Given the description of an element on the screen output the (x, y) to click on. 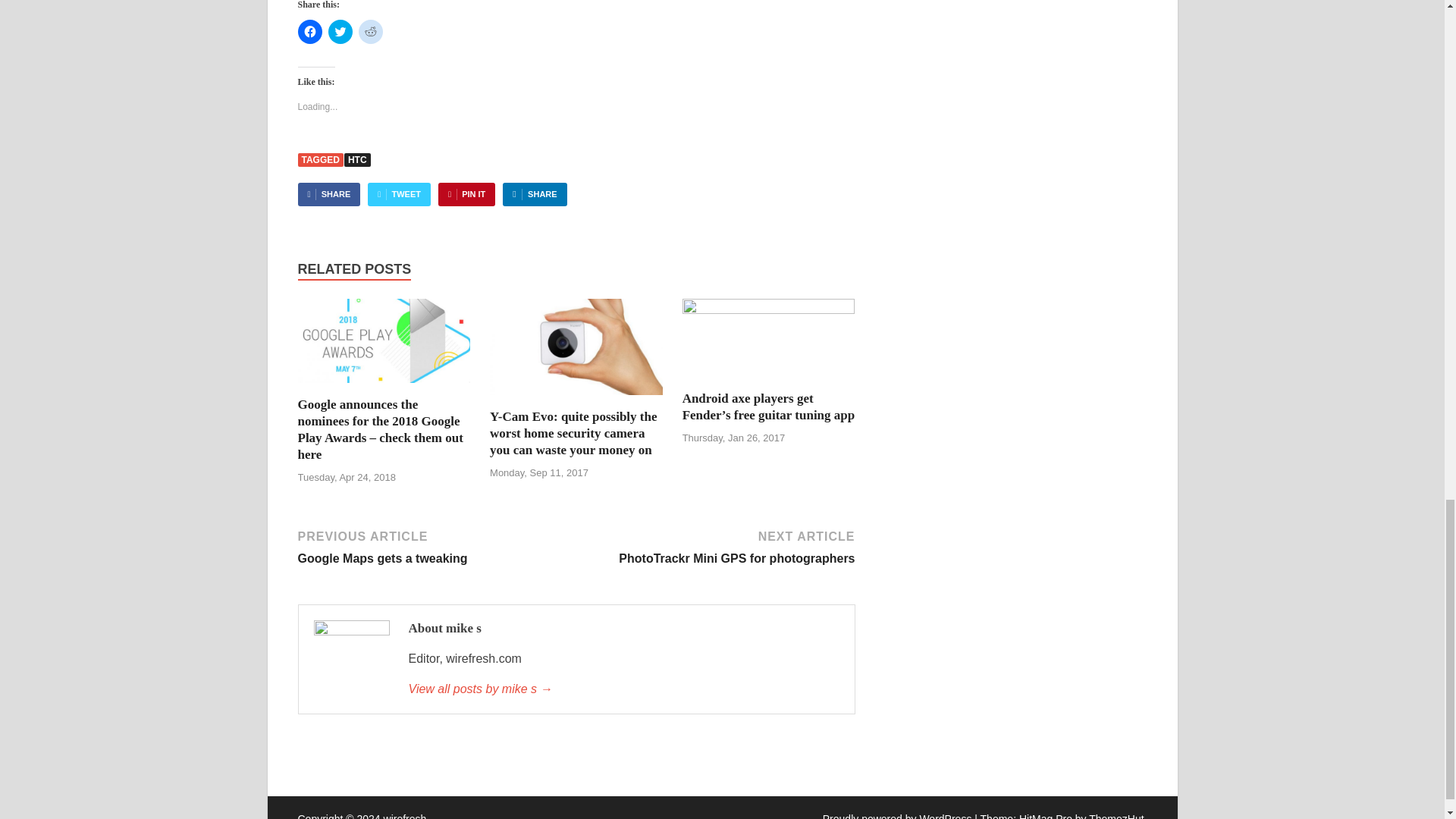
Click to share on Twitter (339, 31)
Click to share on Facebook (309, 31)
mike s (622, 689)
TWEET (399, 194)
SHARE (434, 546)
PIN IT (328, 194)
